Given the description of an element on the screen output the (x, y) to click on. 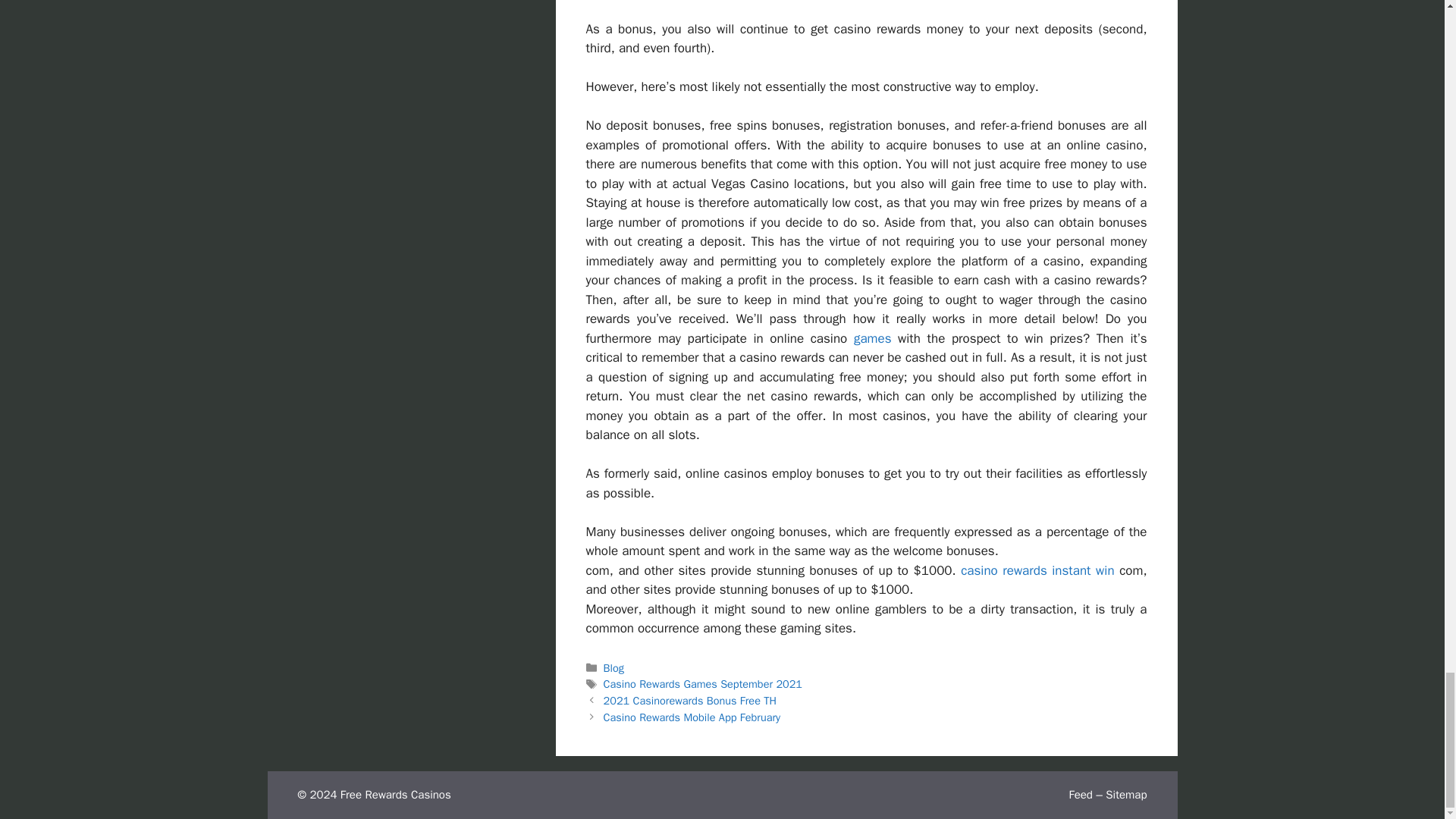
casino rewards instant win (1036, 570)
Feed (1080, 794)
Previous (690, 700)
Sitemap (1126, 794)
Casino Rewards Mobile App February (692, 716)
2021 Casinorewards Bonus Free TH (690, 700)
Blog (614, 667)
games (872, 338)
Casino Rewards Games September 2021 (703, 684)
Next (692, 716)
